Given the description of an element on the screen output the (x, y) to click on. 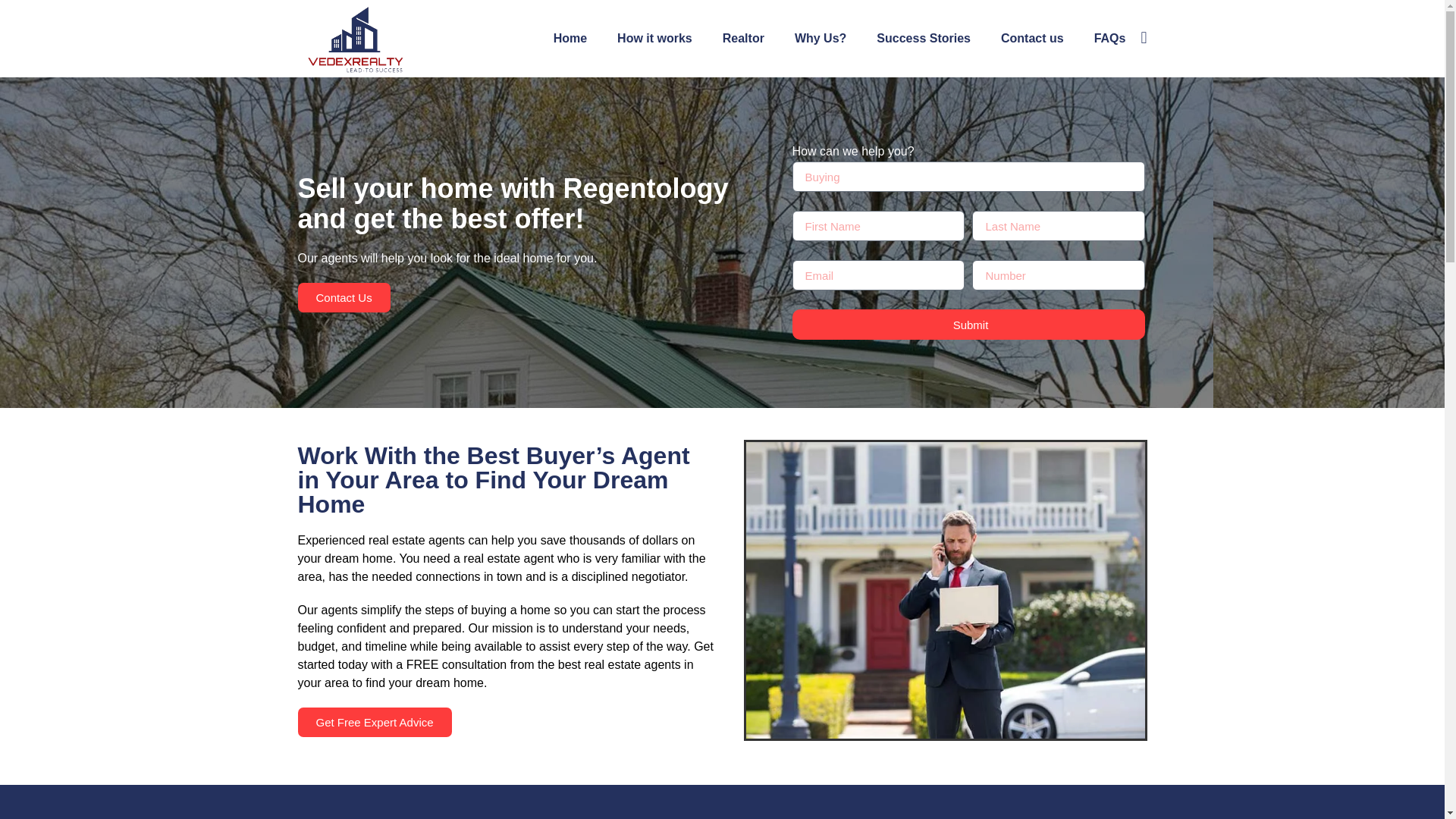
FAQs (1109, 38)
Get Free Expert Advice (374, 722)
How it works (654, 38)
Success Stories (923, 38)
Why Us? (819, 38)
Contact us (1031, 38)
Contact Us (343, 297)
Realtor (742, 38)
Submit (968, 324)
Home (570, 38)
